Given the description of an element on the screen output the (x, y) to click on. 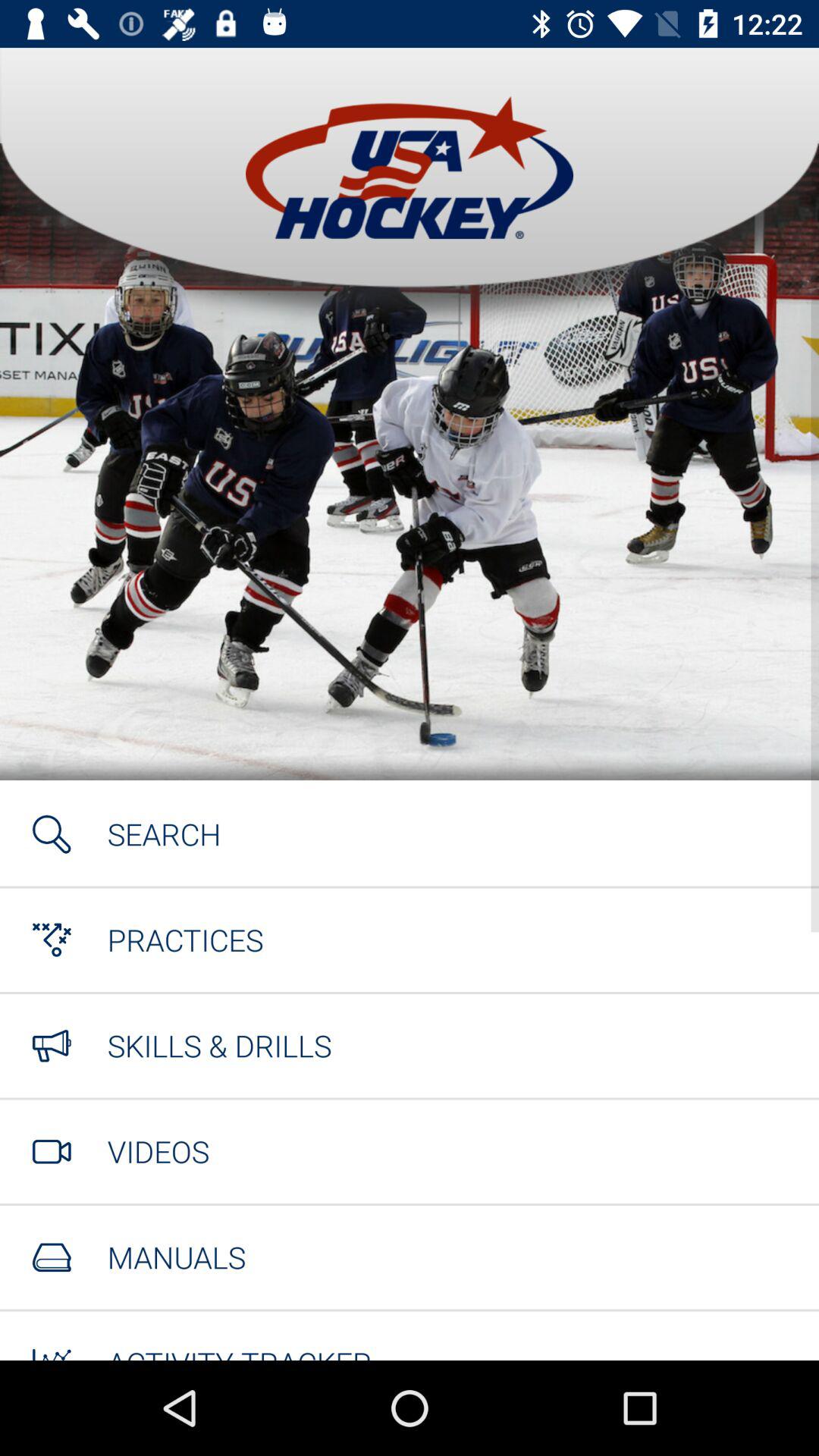
turn off item below videos (176, 1257)
